Given the description of an element on the screen output the (x, y) to click on. 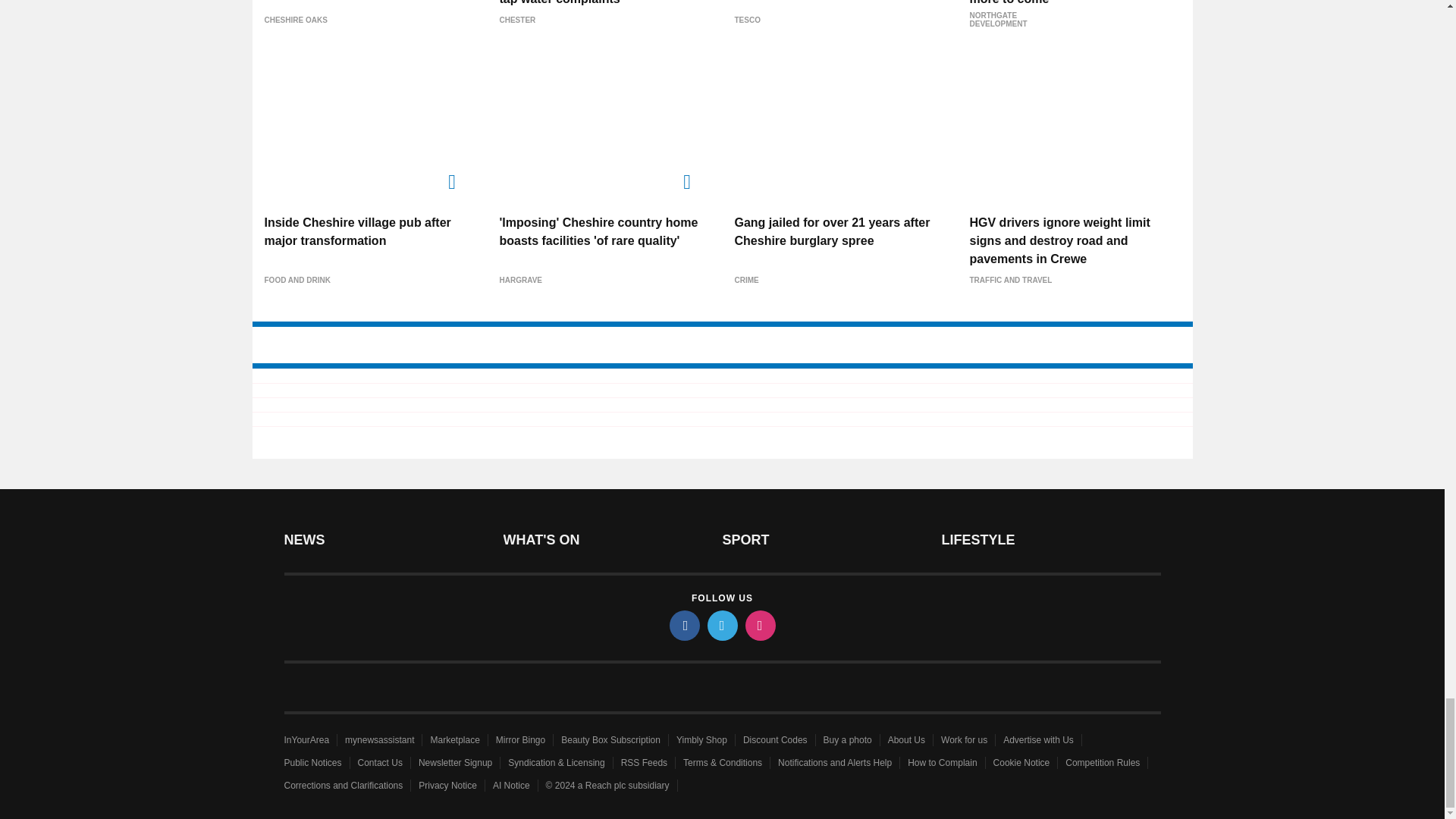
instagram (759, 625)
facebook (683, 625)
twitter (721, 625)
